Given the description of an element on the screen output the (x, y) to click on. 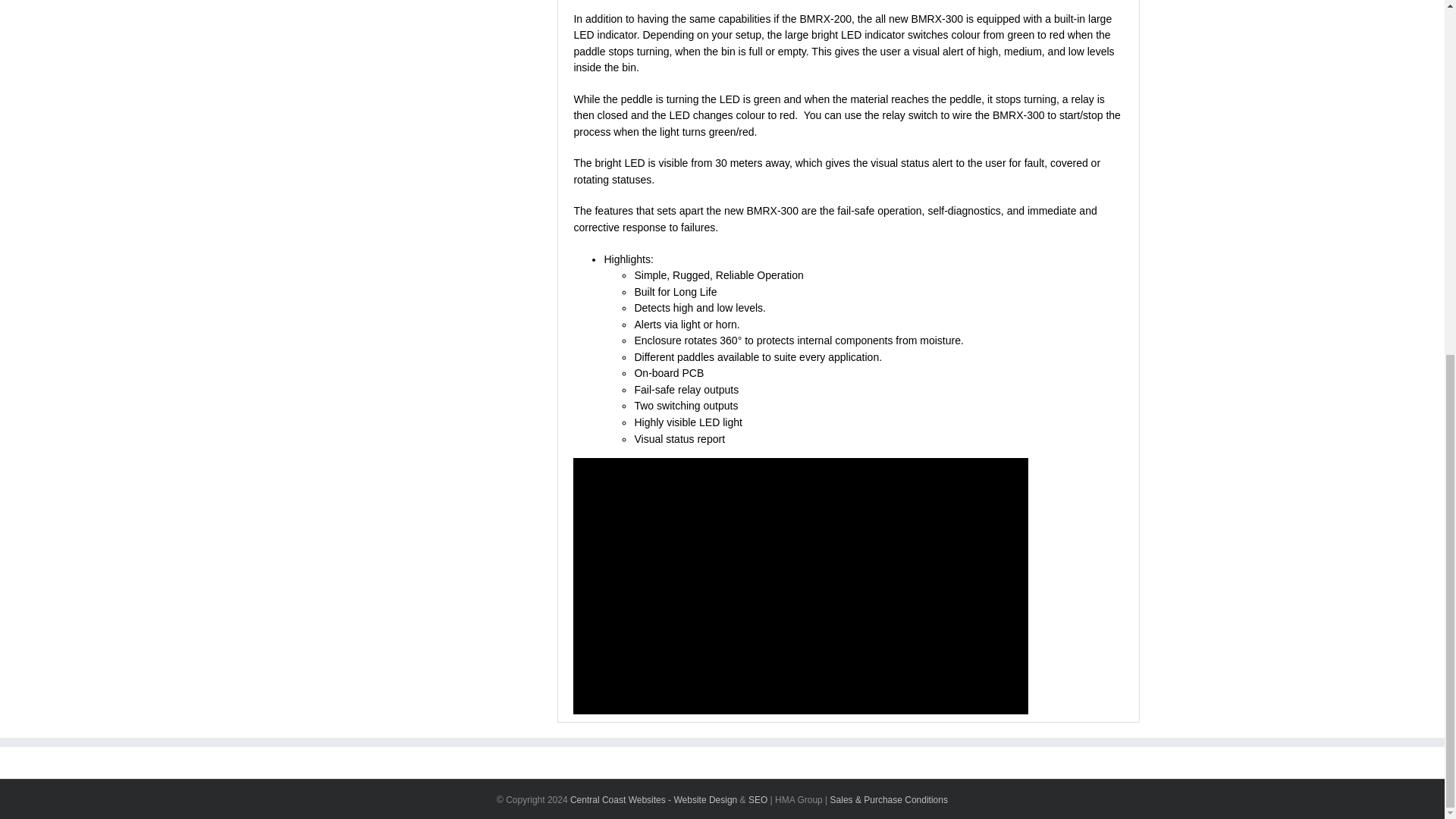
YouTube video player 1 (800, 585)
